Given the description of an element on the screen output the (x, y) to click on. 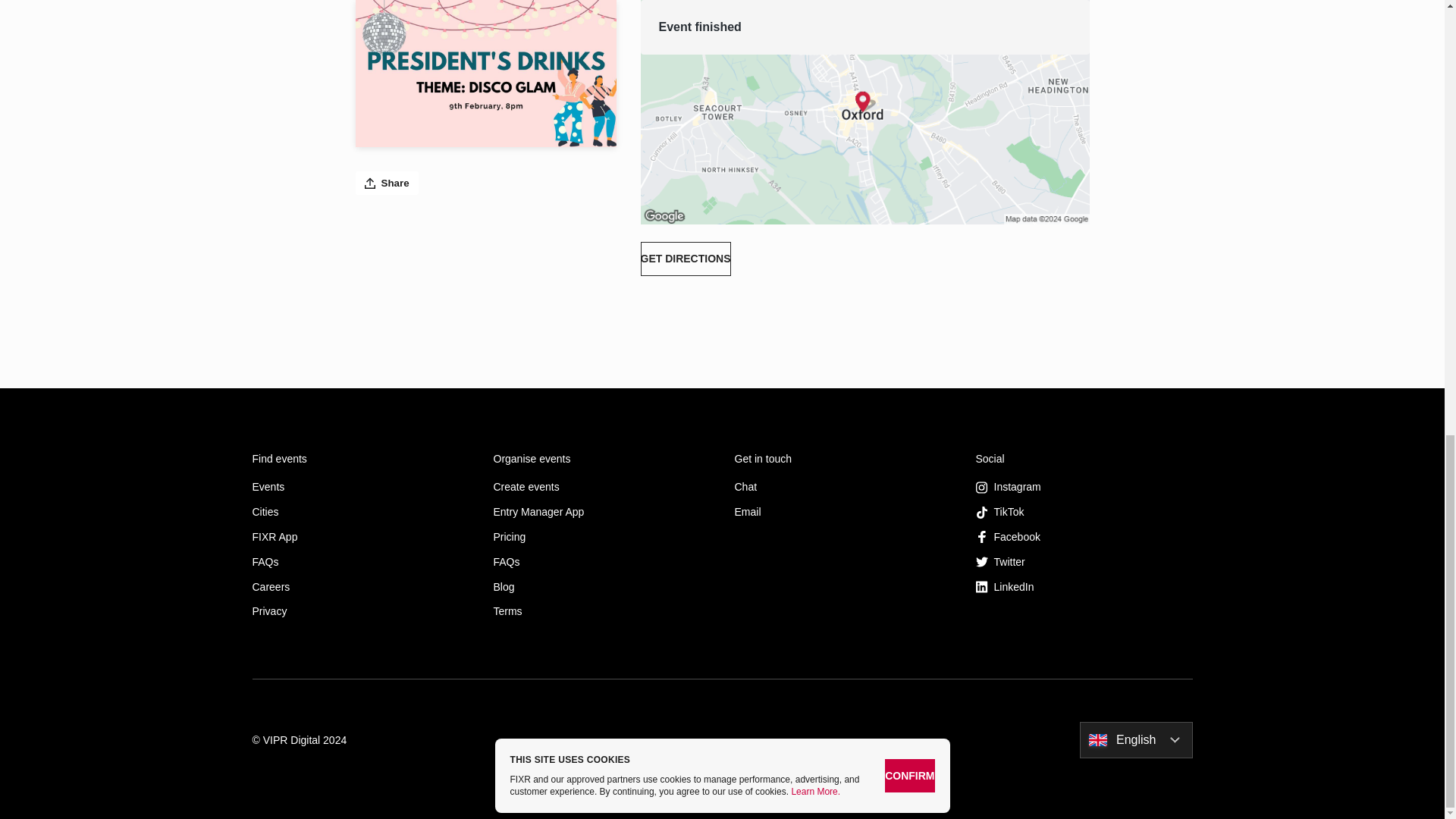
Terms (601, 611)
FAQs (601, 562)
FAQs (359, 562)
Cities (359, 512)
Events (359, 486)
Blog (601, 585)
Create events (601, 486)
Privacy (359, 611)
Twitter (1083, 562)
Email (841, 512)
Careers (359, 585)
Instagram (1083, 486)
FIXR App (359, 536)
GET DIRECTIONS (685, 258)
LinkedIn (1083, 585)
